Given the description of an element on the screen output the (x, y) to click on. 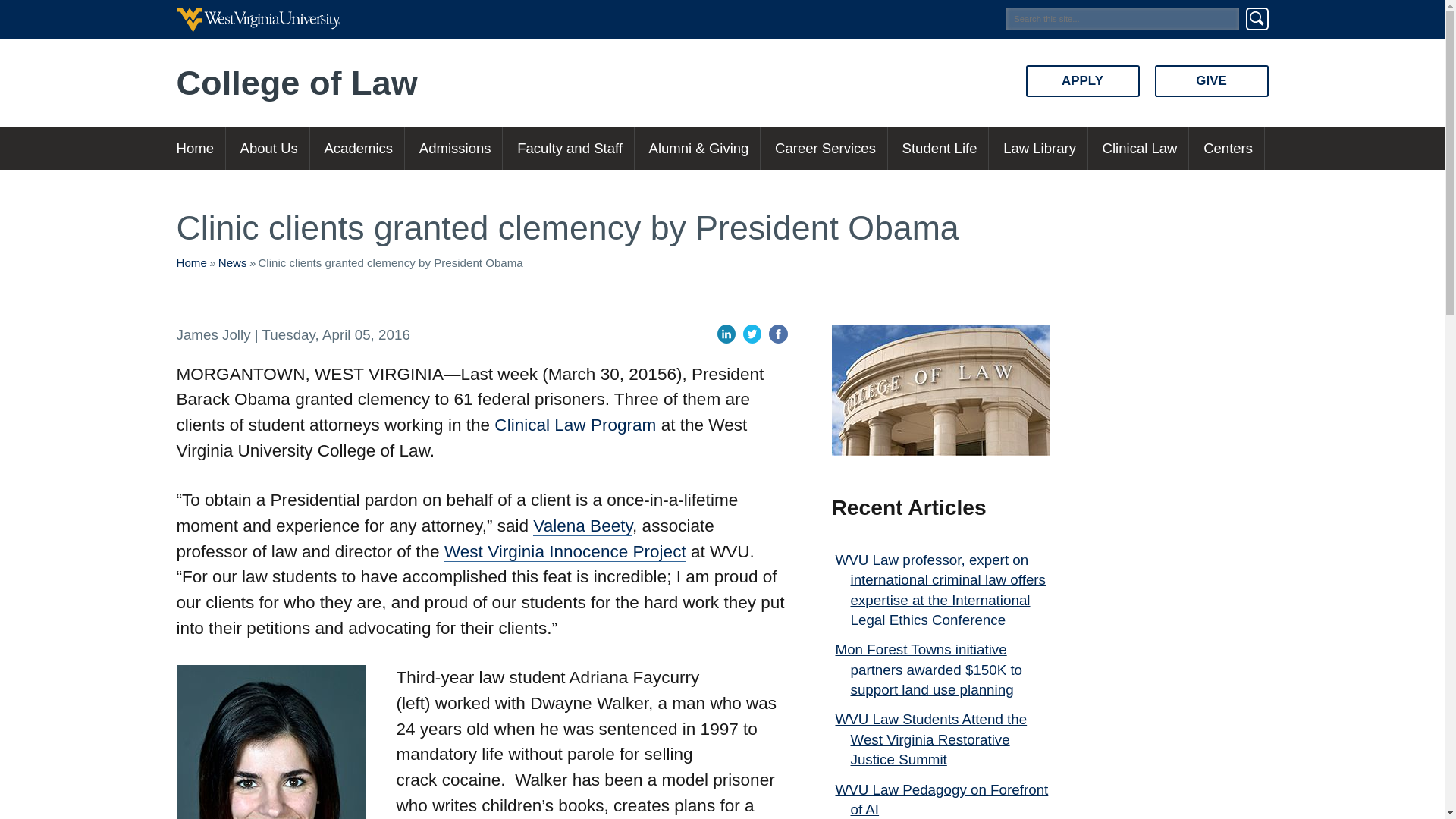
Student Life (940, 148)
Career Services (825, 148)
Clinical Law Program (575, 424)
News (232, 262)
College of Law (449, 83)
Skip to main content (214, 17)
Admissions (454, 148)
APPLY (1081, 81)
Home (200, 148)
Faculty and Staff (569, 148)
Law Library (1039, 148)
About Us (269, 148)
WVU Law Admissions (454, 148)
Home (191, 262)
Centers (1228, 148)
